Given the description of an element on the screen output the (x, y) to click on. 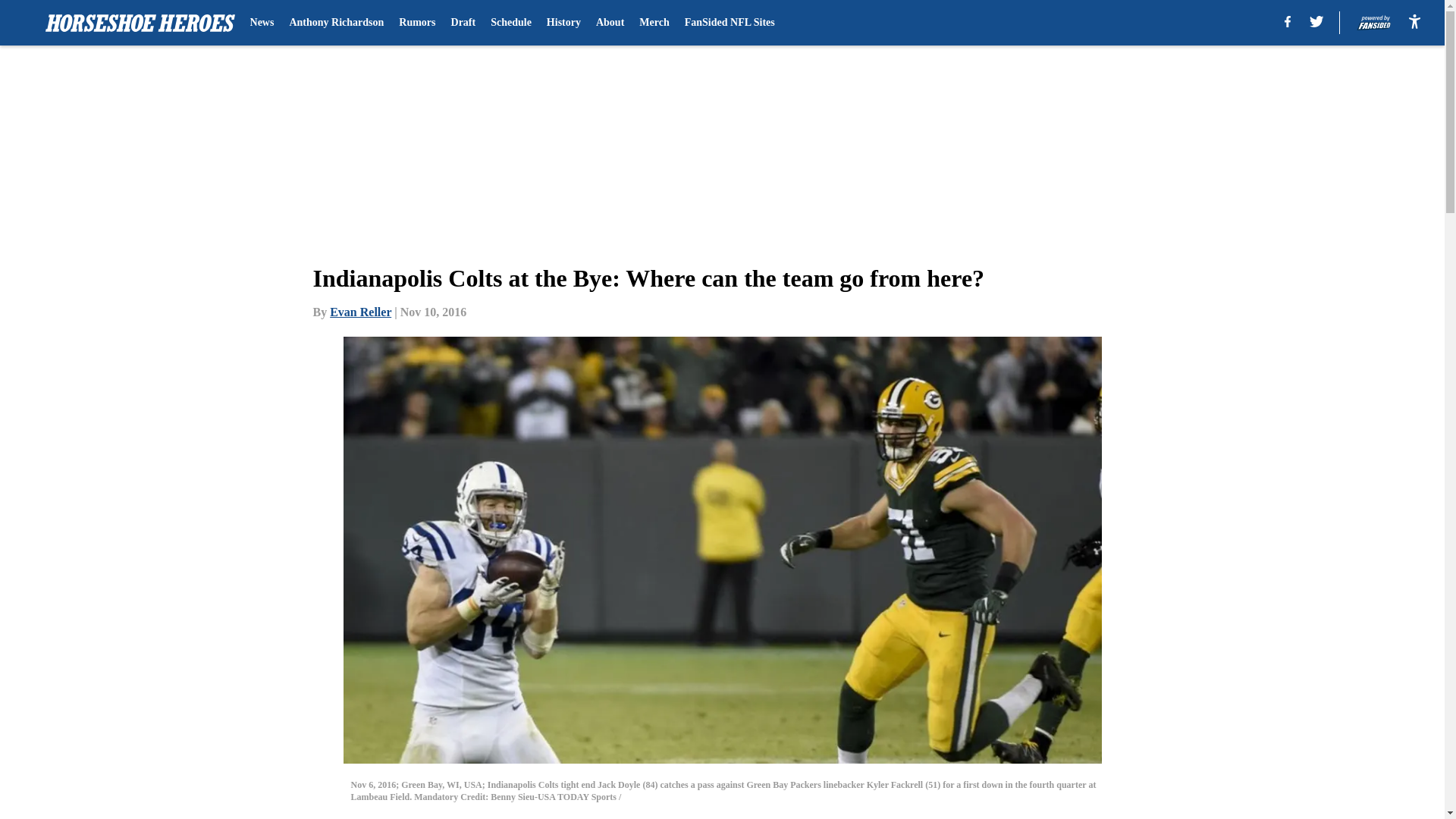
News (262, 22)
History (563, 22)
FanSided NFL Sites (729, 22)
Anthony Richardson (336, 22)
Merch (653, 22)
Rumors (416, 22)
Schedule (510, 22)
Evan Reller (360, 311)
Draft (463, 22)
About (609, 22)
